Given the description of an element on the screen output the (x, y) to click on. 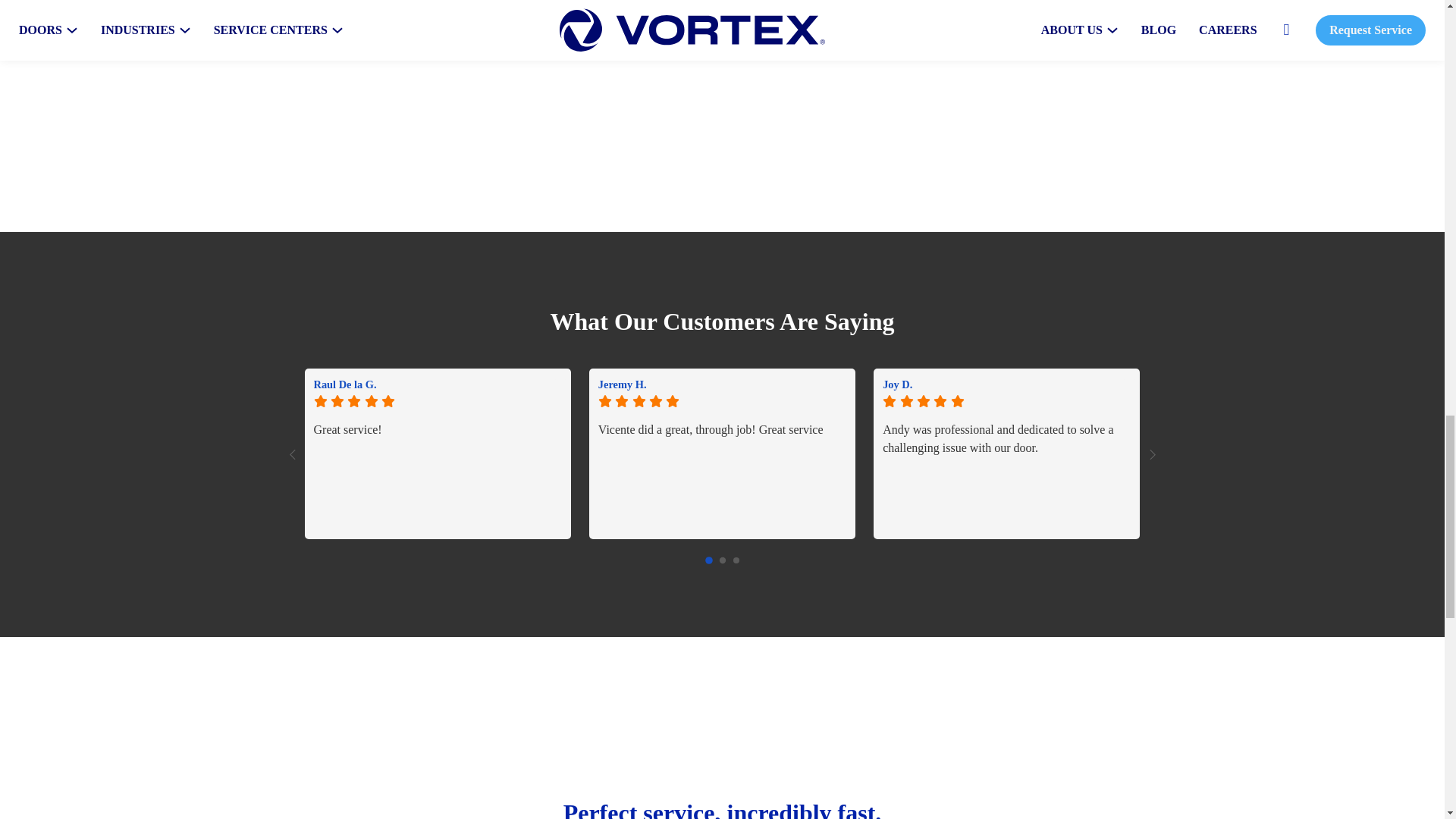
0 (707, 559)
2 (735, 560)
Joy D. (1006, 384)
Jeremy H. (721, 384)
Raul De la G. (438, 384)
Francisco A. (1291, 384)
Great service! (438, 474)
1 (722, 560)
Vicente did a great, through job! Great service (721, 474)
